Given the description of an element on the screen output the (x, y) to click on. 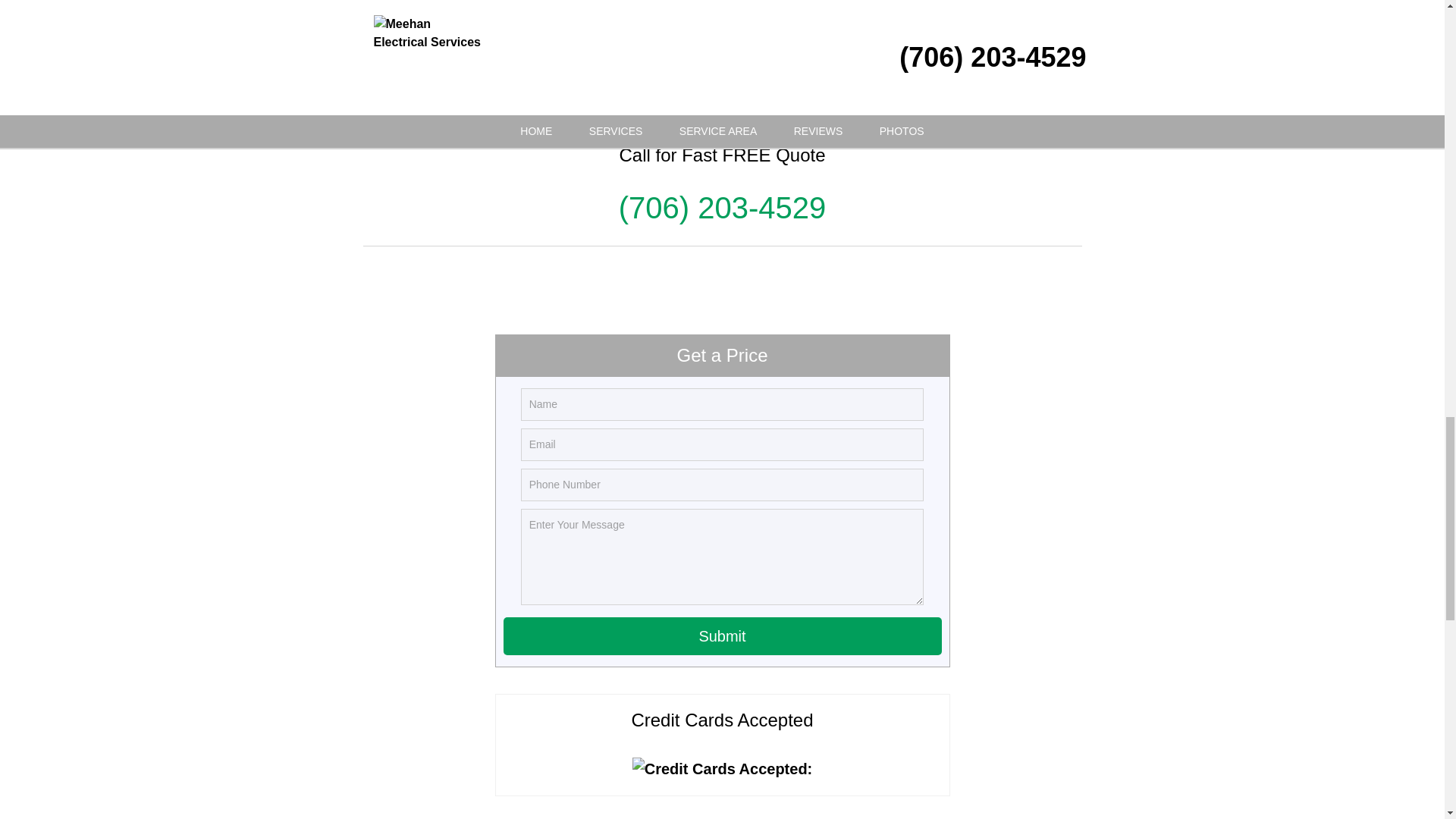
Submit (722, 636)
